Given the description of an element on the screen output the (x, y) to click on. 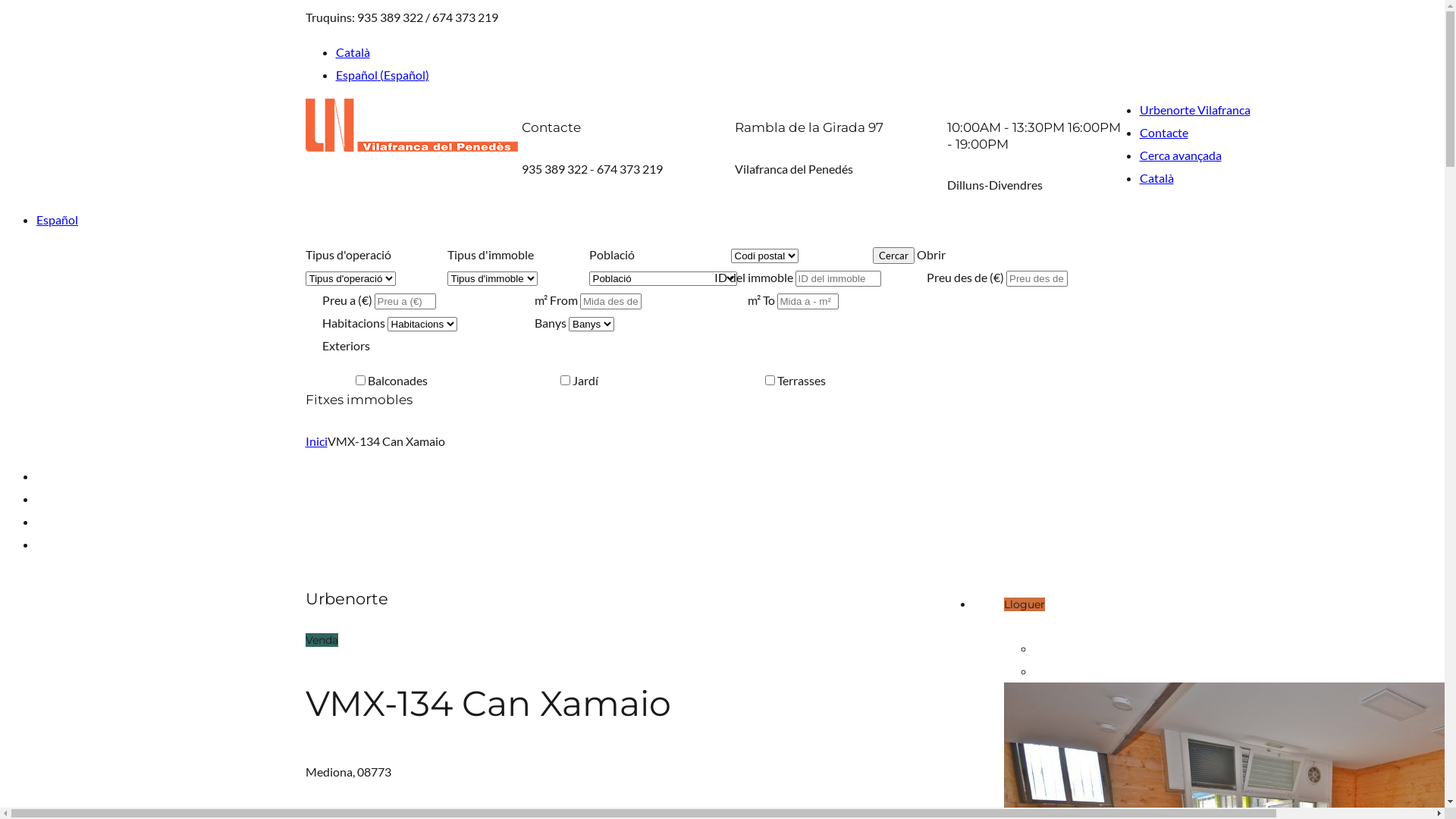
Inici Element type: text (315, 440)
Cercar Element type: text (892, 255)
Urbenorte Vilafranca Element type: text (1194, 109)
Contacte Element type: text (1163, 132)
